Given the description of an element on the screen output the (x, y) to click on. 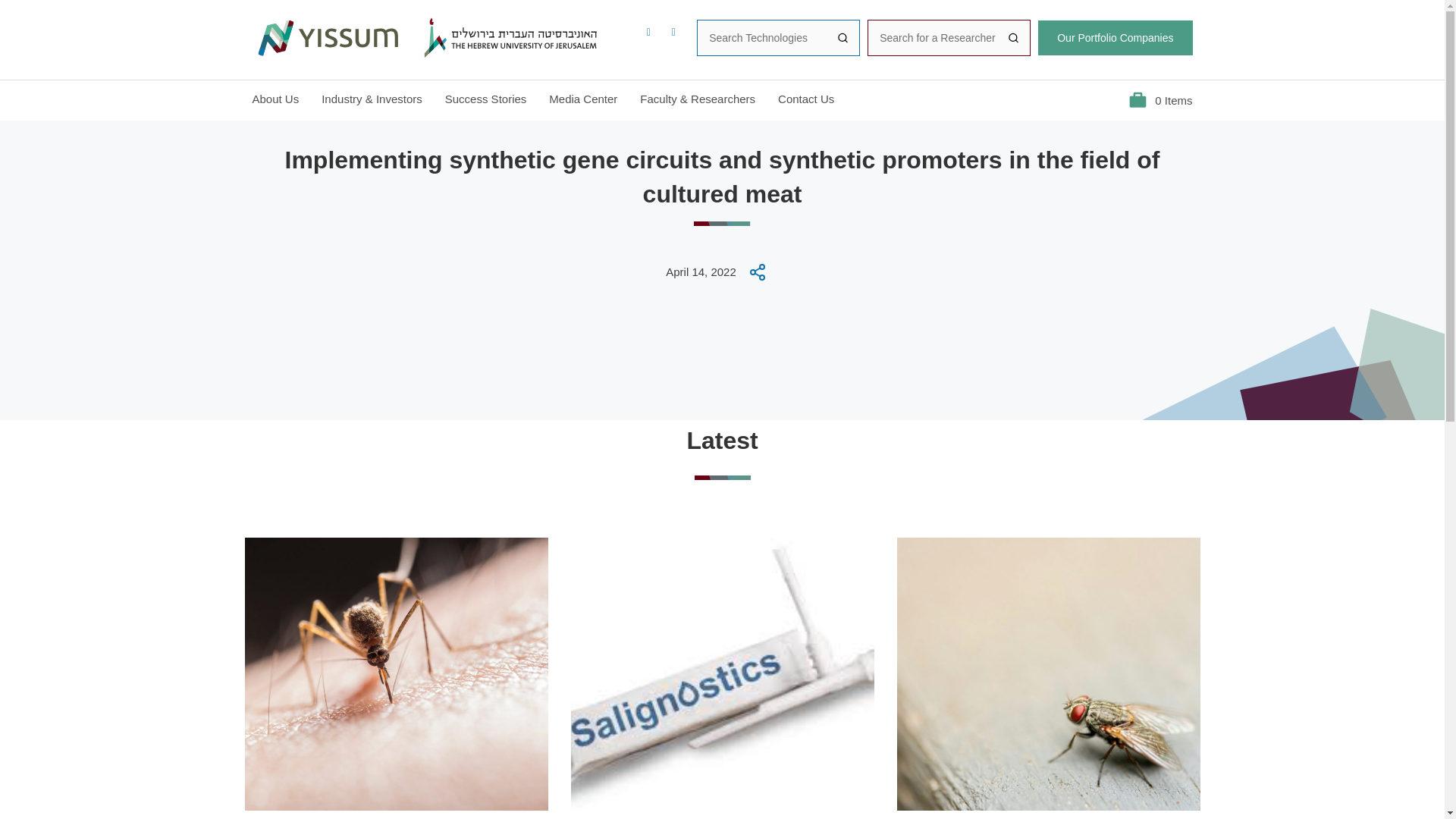
Media Center (582, 98)
Contact Us (805, 98)
Success Stories (486, 98)
About Us (274, 98)
Our Portfolio Companies (1115, 37)
0 Items (1160, 100)
